Given the description of an element on the screen output the (x, y) to click on. 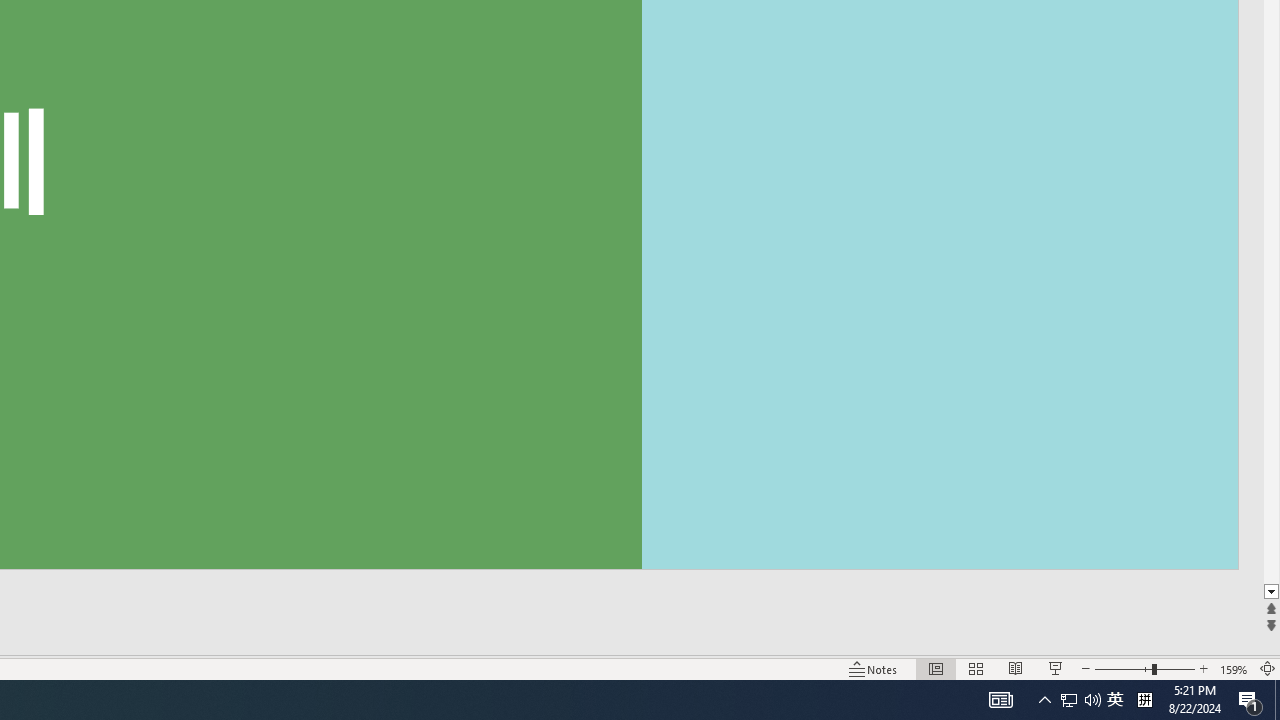
AutomationID: 4105 (1000, 699)
User Promoted Notification Area (1080, 699)
Action Center, 1 new notification (1250, 699)
Show desktop (1277, 699)
